Given the description of an element on the screen output the (x, y) to click on. 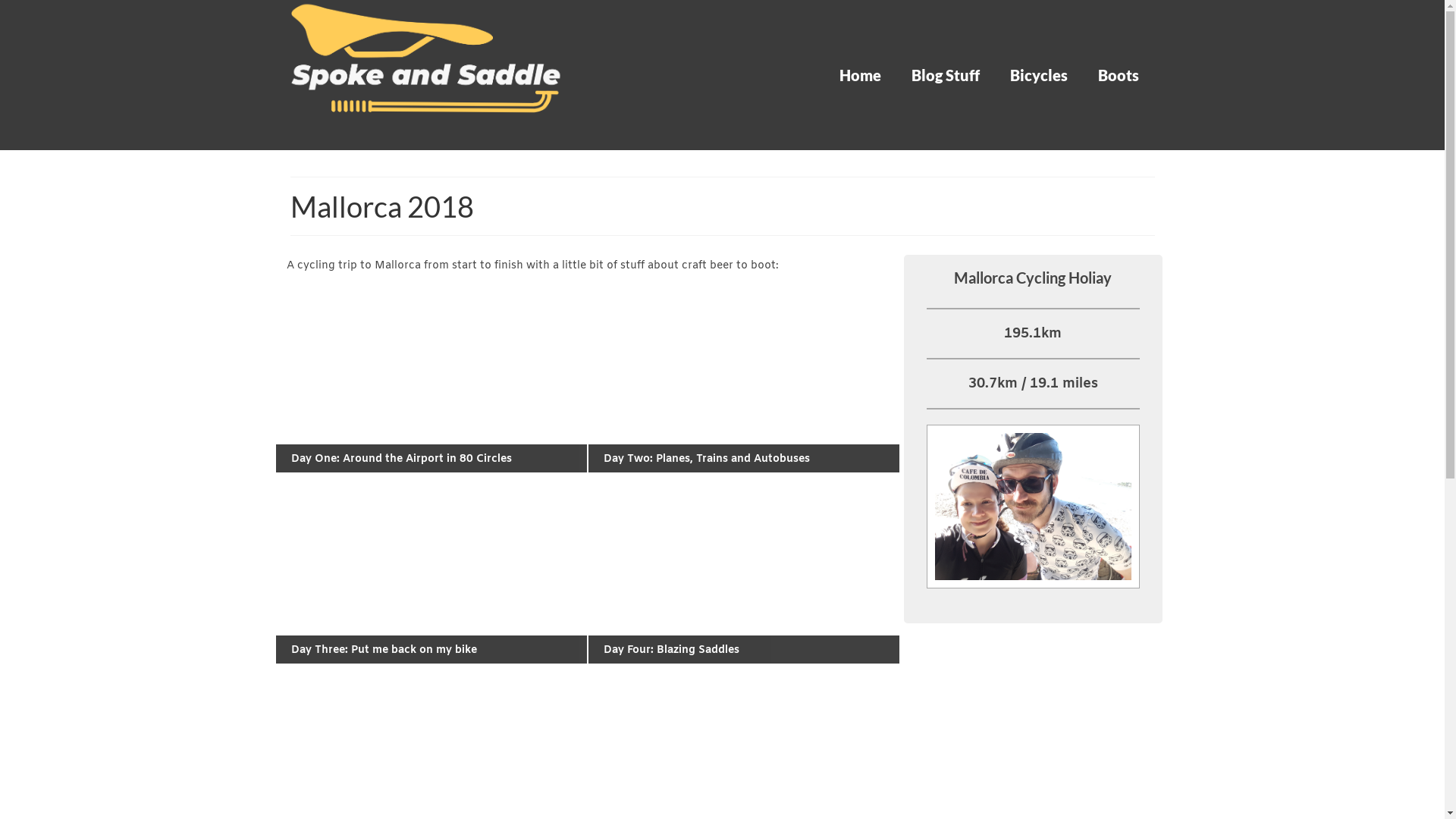
Day Four: Blazing Saddles Element type: text (671, 650)
Boots Element type: text (1118, 74)
Day Two: Planes, Trains and Autobuses Element type: text (706, 458)
Bicycles Element type: text (1038, 74)
Day One: Around the Airport in 80 Circles Element type: text (401, 458)
Home Element type: text (860, 74)
Day Three: Put me back on my bike Element type: text (383, 650)
Blog Stuff Element type: text (945, 74)
